Given the description of an element on the screen output the (x, y) to click on. 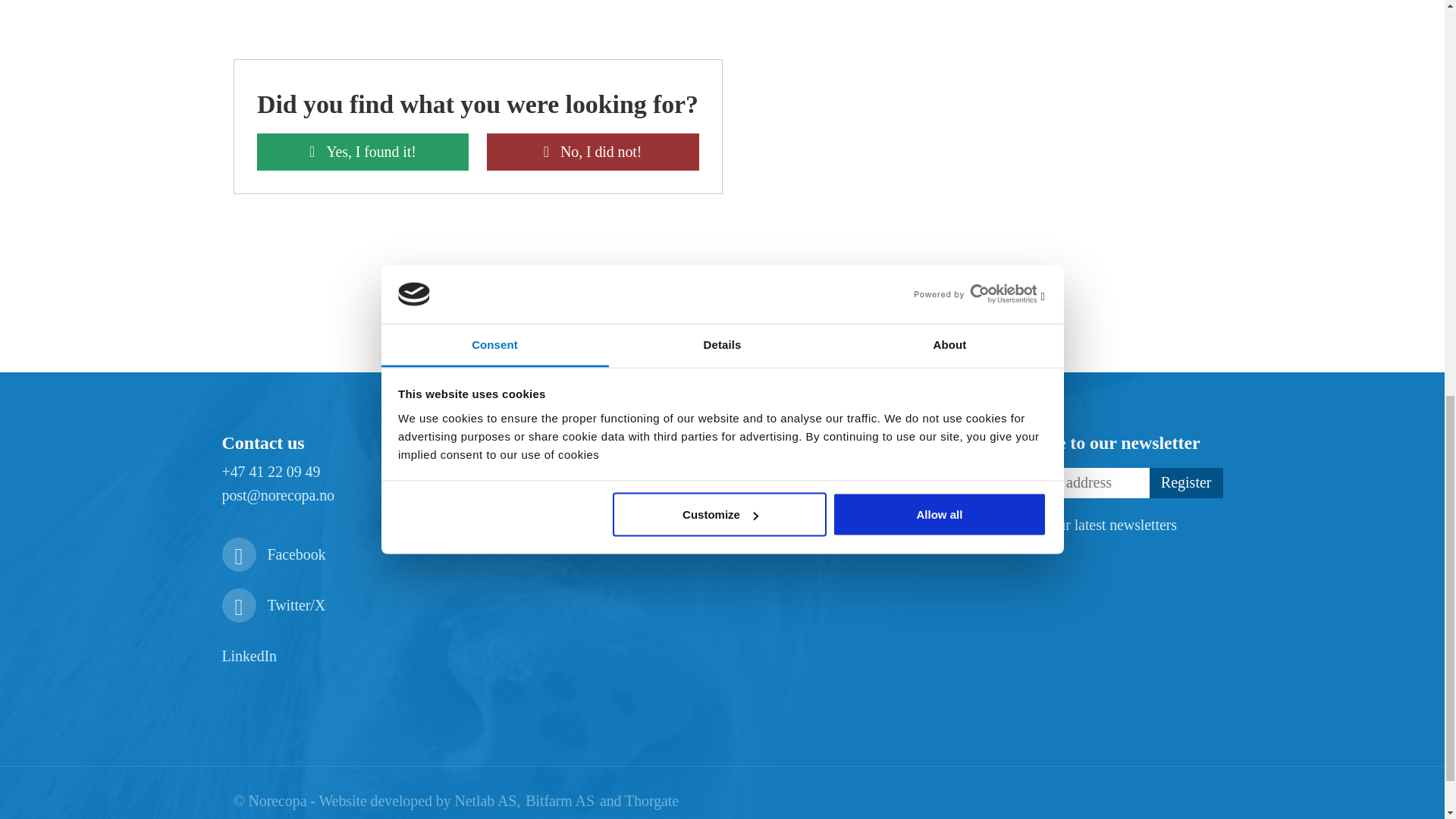
Subscribe (1186, 482)
